Given the description of an element on the screen output the (x, y) to click on. 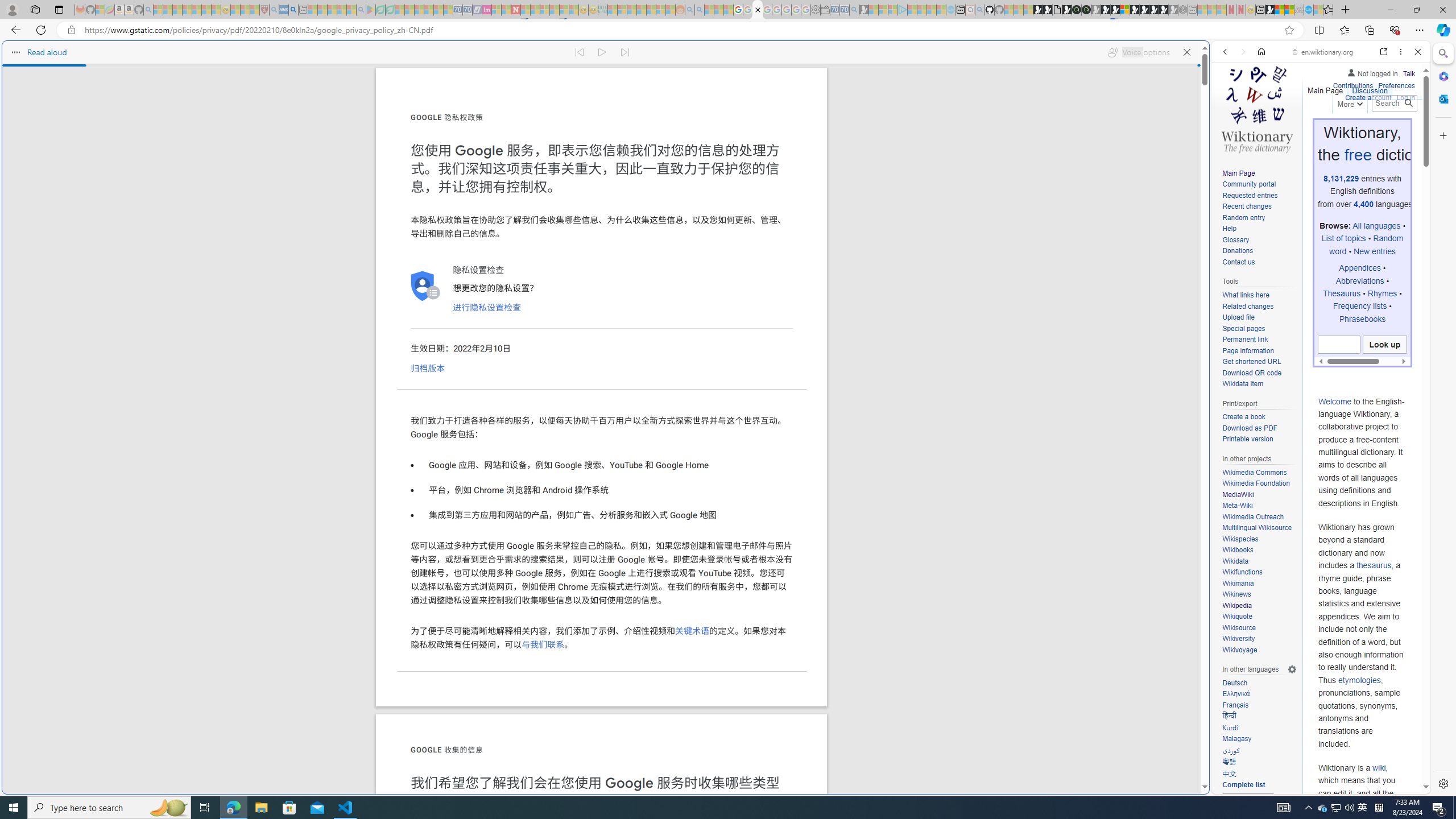
Related changes (1259, 306)
Phrasebooks (1362, 318)
en.wiktionary.org (1323, 51)
Wikiversity (1259, 639)
Download as PDF (1248, 427)
Main Page (1238, 172)
What links here (1259, 295)
Help (1259, 229)
